Given the description of an element on the screen output the (x, y) to click on. 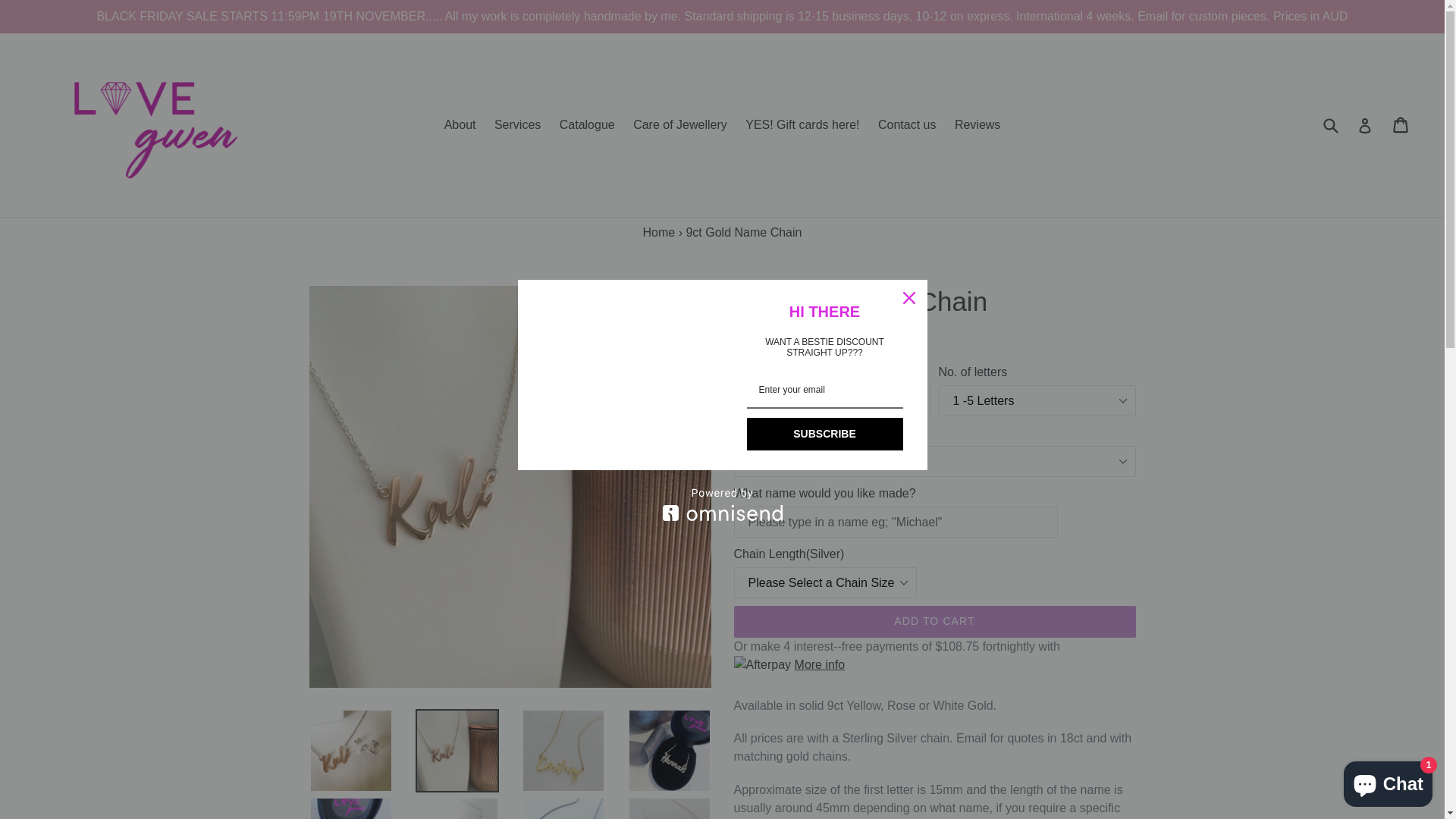
YES! Gift cards here! Element type: text (801, 124)
About Element type: text (459, 124)
Catalogue Element type: text (587, 124)
Services Element type: text (517, 124)
ADD TO CART Element type: text (934, 621)
Care of Jewellery Element type: text (679, 124)
Submit Element type: text (1329, 124)
Reviews Element type: text (977, 124)
Contact us Element type: text (906, 124)
Log in Element type: text (1364, 124)
Cart
Cart Element type: text (1401, 124)
Shopify online store chat Element type: hover (1388, 780)
Home Element type: text (659, 231)
More info Element type: text (934, 664)
